Given the description of an element on the screen output the (x, y) to click on. 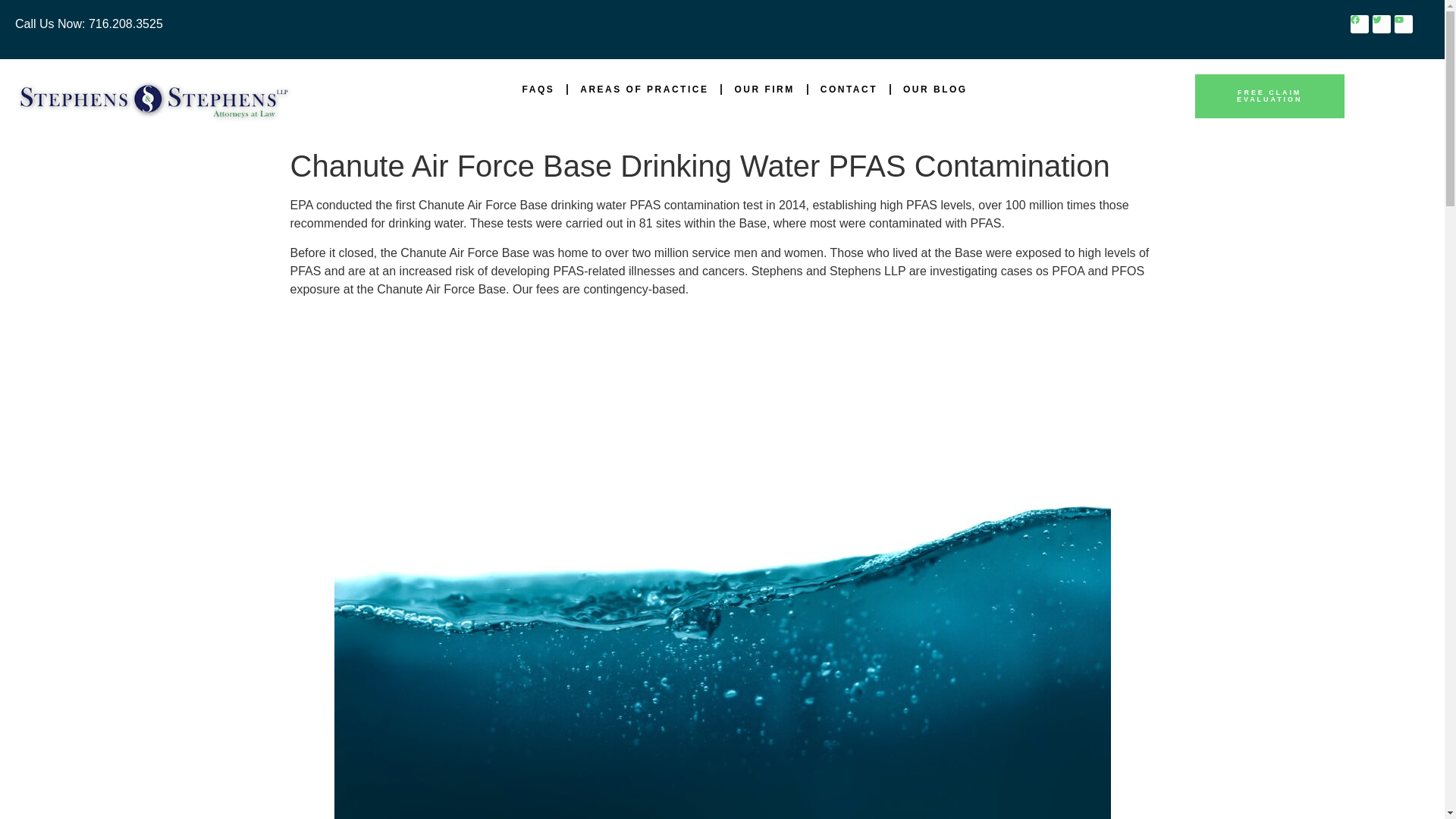
716.208.3525 (122, 23)
Our Expertise (643, 89)
the Firm (763, 89)
FAQS (538, 89)
OUR BLOG (935, 89)
CONTACT (849, 89)
OUR FIRM (763, 89)
AREAS OF PRACTICE (643, 89)
